Given the description of an element on the screen output the (x, y) to click on. 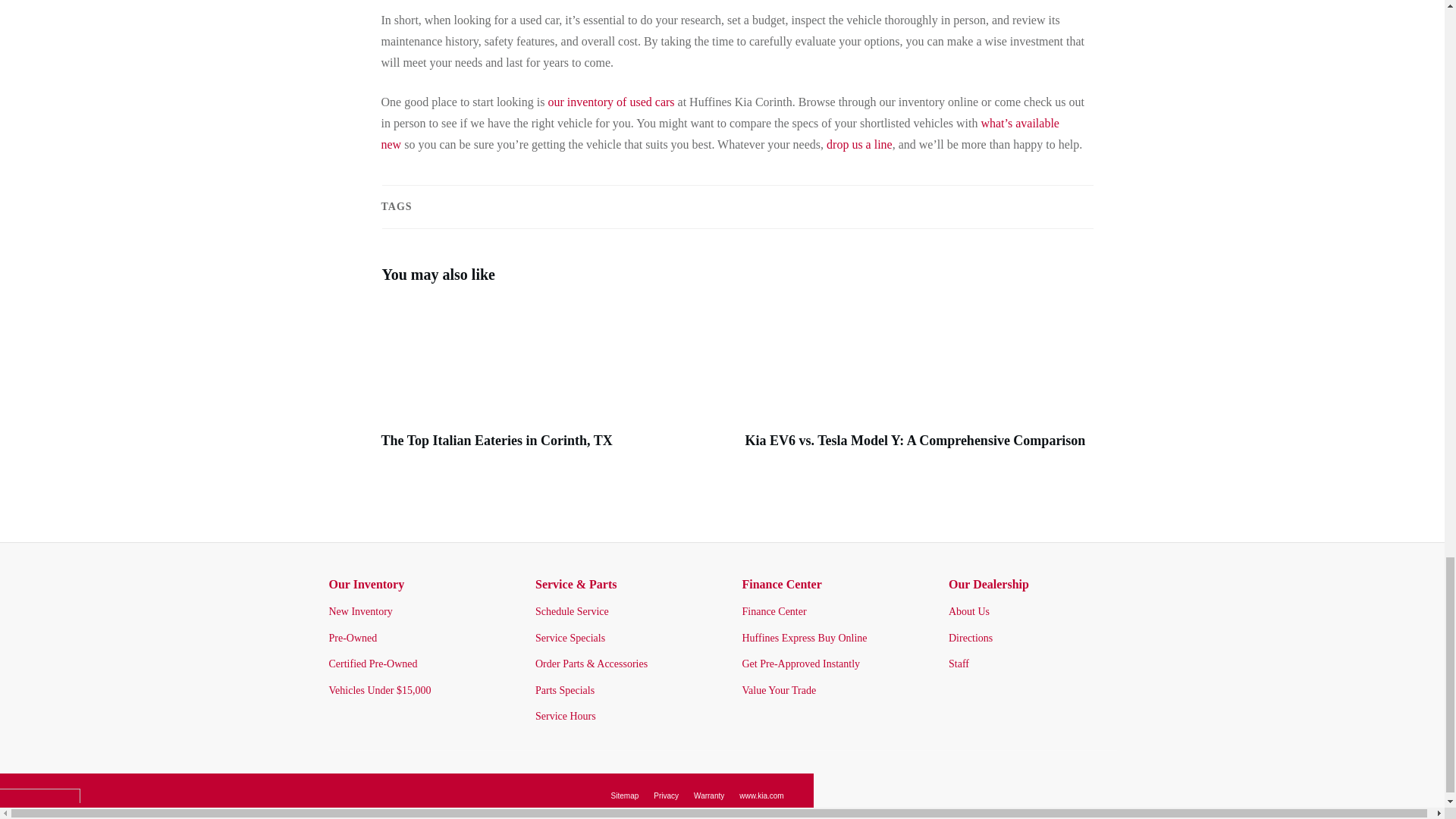
The Top Italian Eateries in Corinth, TX (495, 440)
Kia EV6 vs. Tesla Model Y: A Comprehensive Comparison (914, 440)
logo-one-color-white (40, 795)
